Given the description of an element on the screen output the (x, y) to click on. 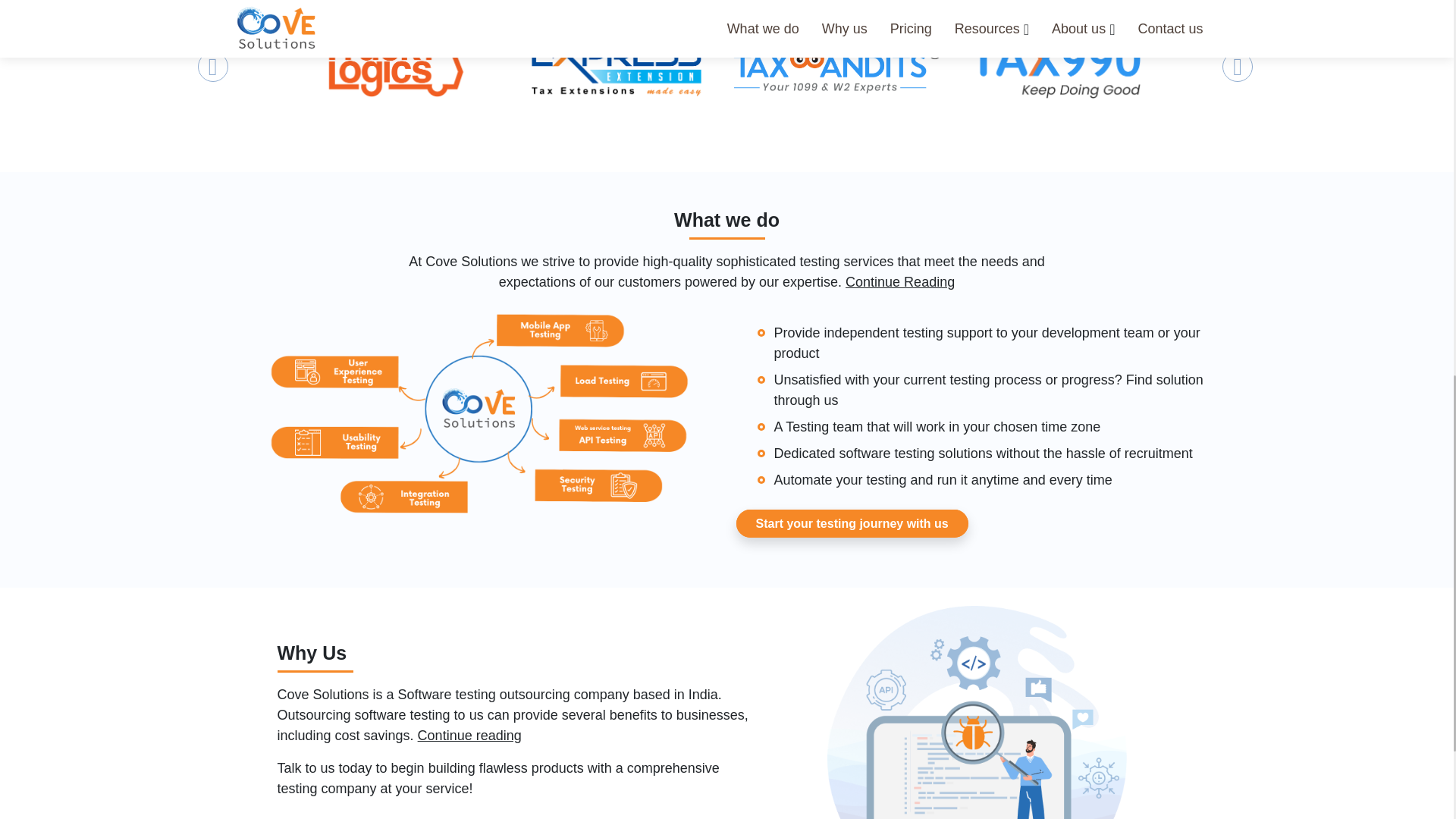
Start your testing journey with us (851, 523)
Continue reading (469, 735)
Continue Reading (900, 281)
